Given the description of an element on the screen output the (x, y) to click on. 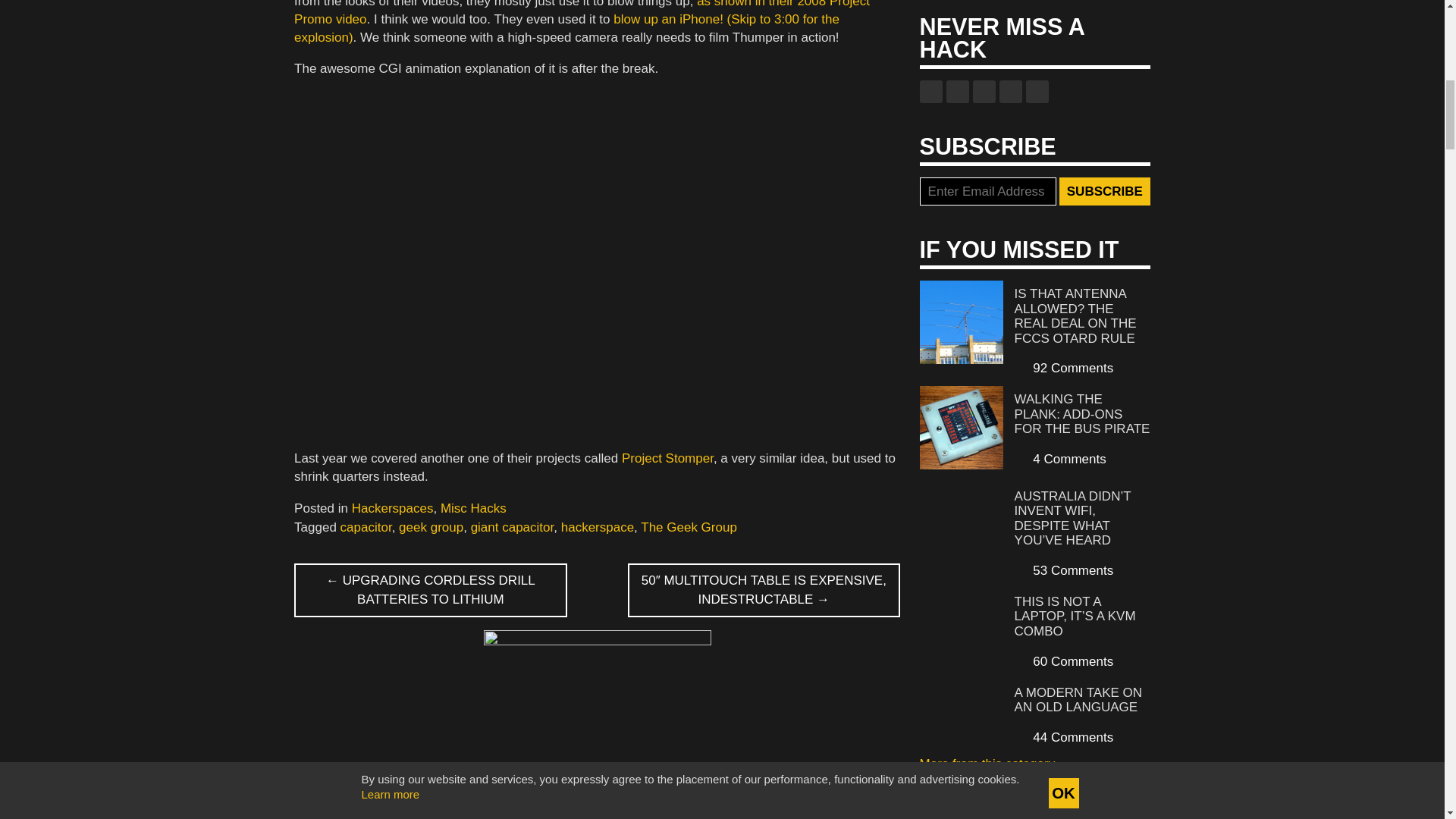
hackerspace (596, 527)
Subscribe (1104, 191)
geek group (430, 527)
as shown in their 2008 Project Promo video (581, 13)
Misc Hacks (473, 508)
Hackerspaces (392, 508)
The Geek Group (688, 527)
capacitor (365, 527)
giant capacitor (512, 527)
